Given the description of an element on the screen output the (x, y) to click on. 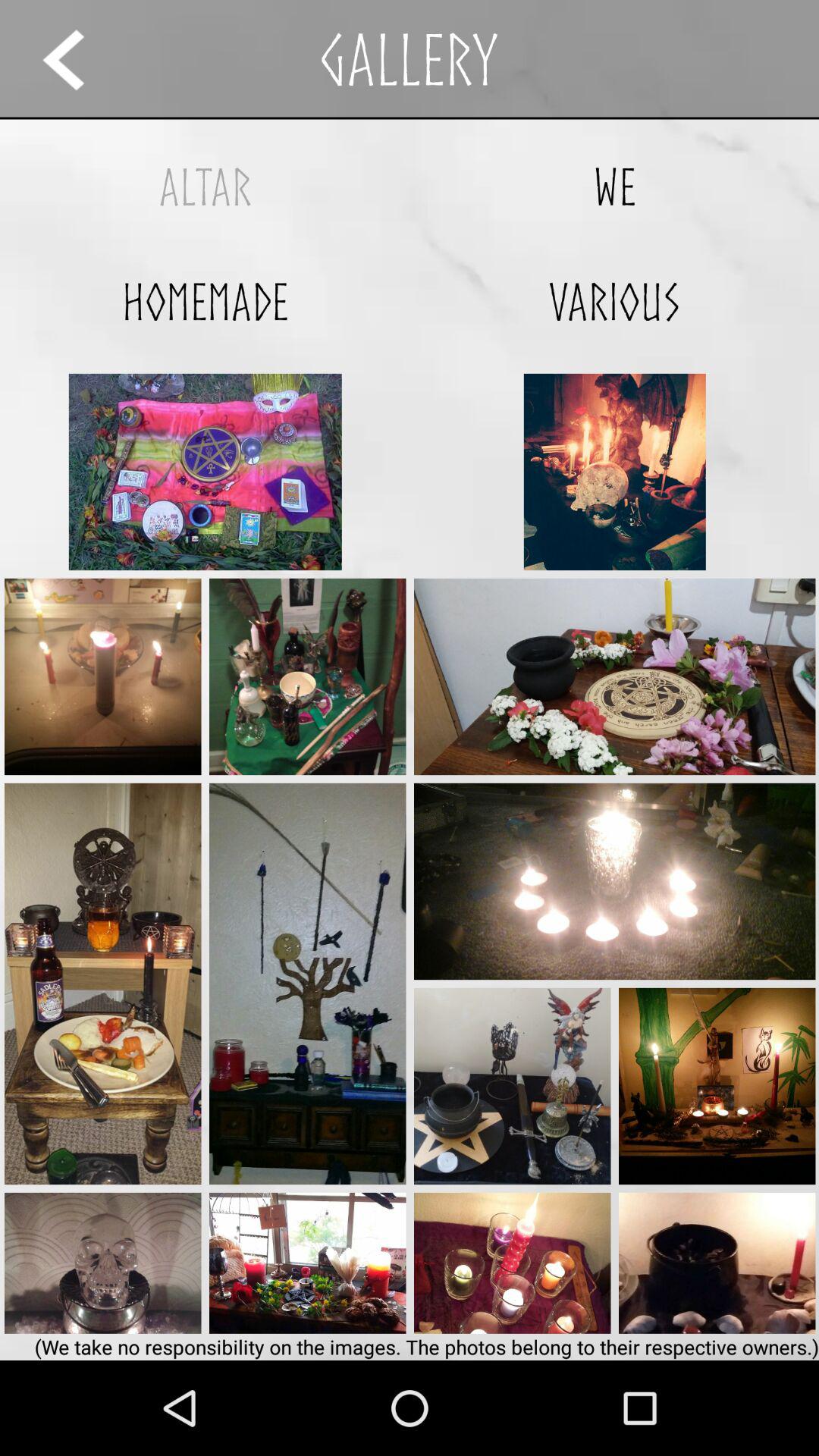
jump to homemade item (204, 301)
